Given the description of an element on the screen output the (x, y) to click on. 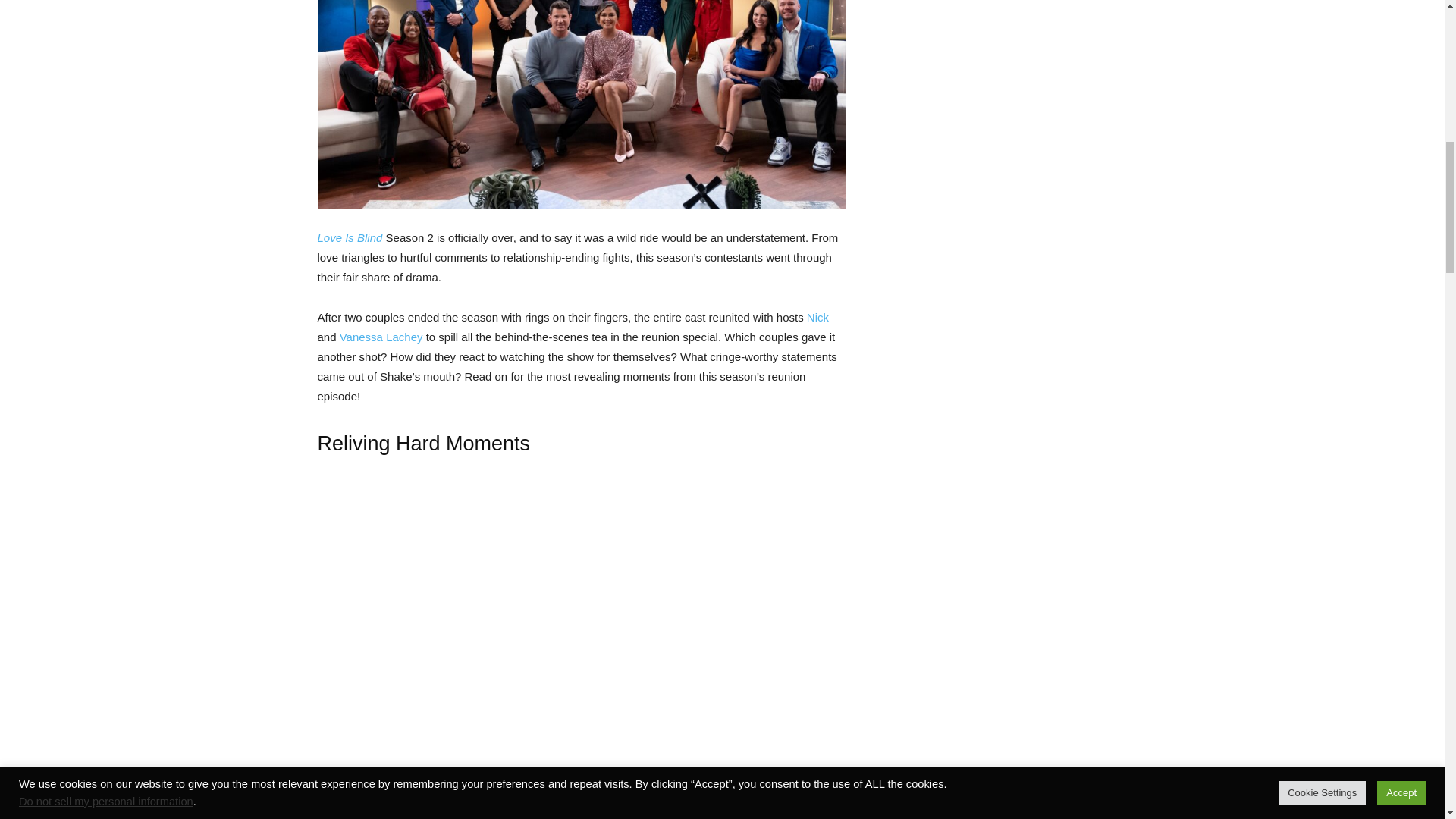
Love Is Blind (349, 237)
